Given the description of an element on the screen output the (x, y) to click on. 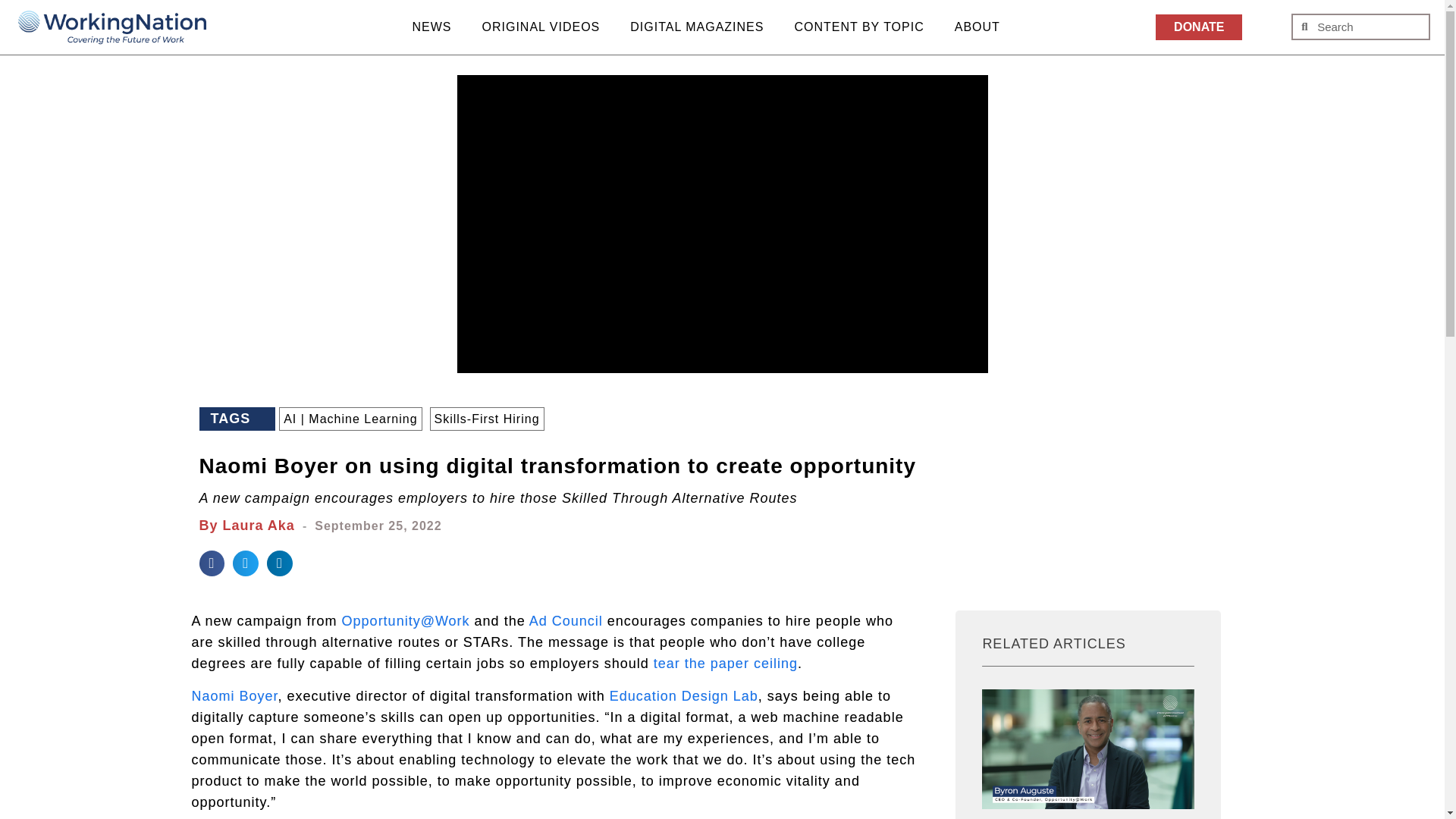
DIGITAL MAGAZINES (696, 27)
NEWS (432, 27)
WNlogoBluewithtagline (112, 28)
ORIGINAL VIDEOS (541, 27)
ABOUT (977, 27)
CONTENT BY TOPIC (858, 27)
